Given the description of an element on the screen output the (x, y) to click on. 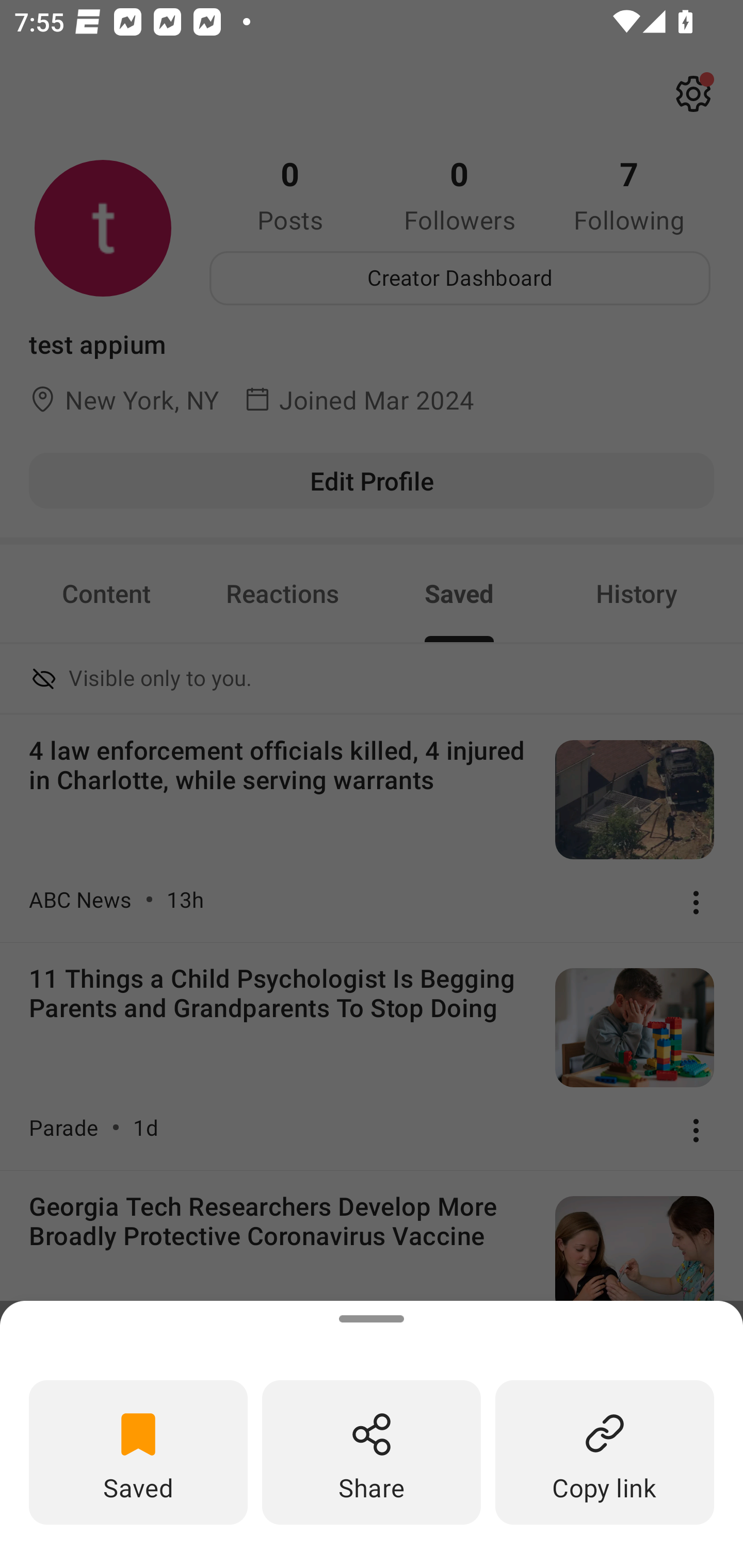
Saved (137, 1451)
Share (371, 1451)
Copy link (604, 1451)
